Given the description of an element on the screen output the (x, y) to click on. 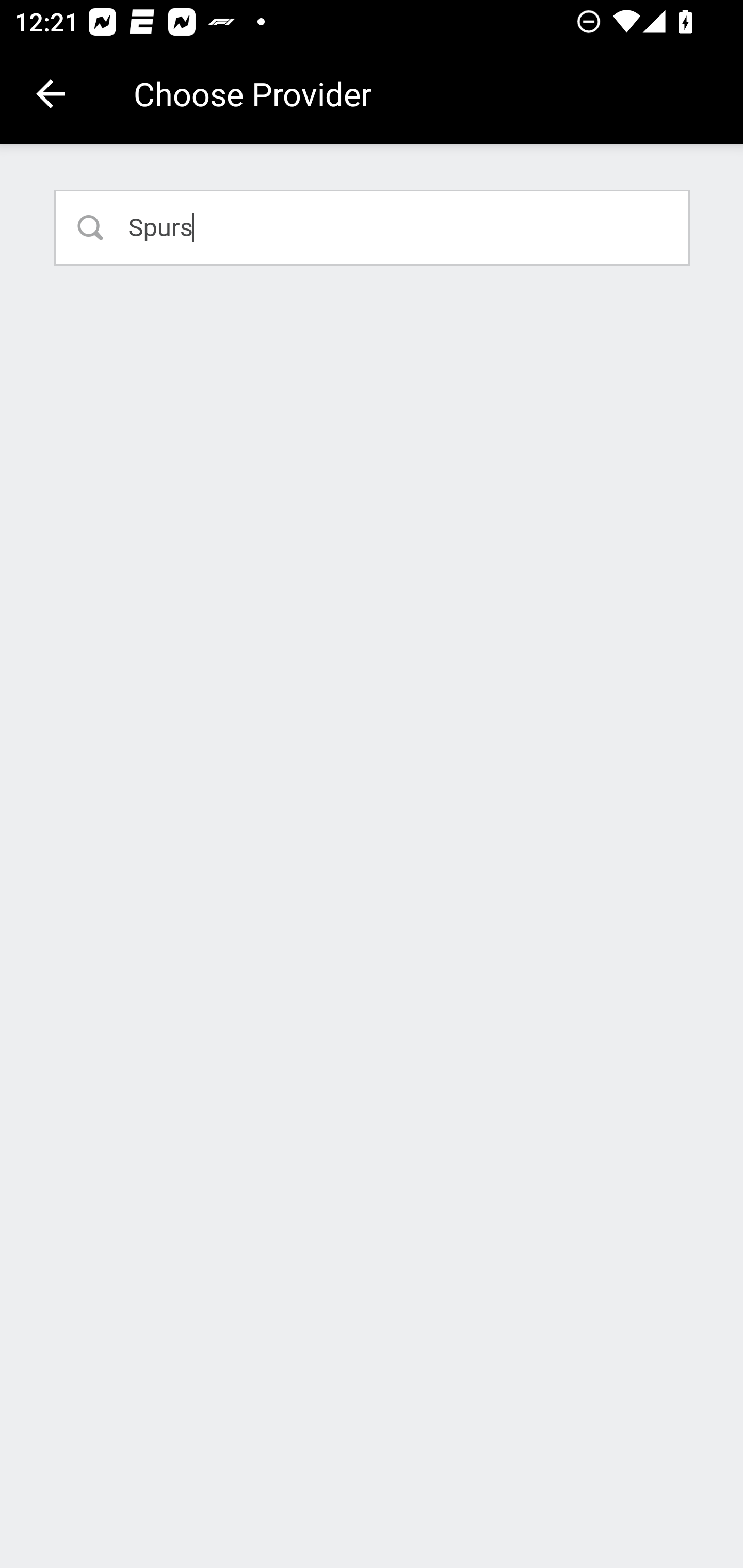
Navigate up (50, 93)
Spurs (372, 227)
